Given the description of an element on the screen output the (x, y) to click on. 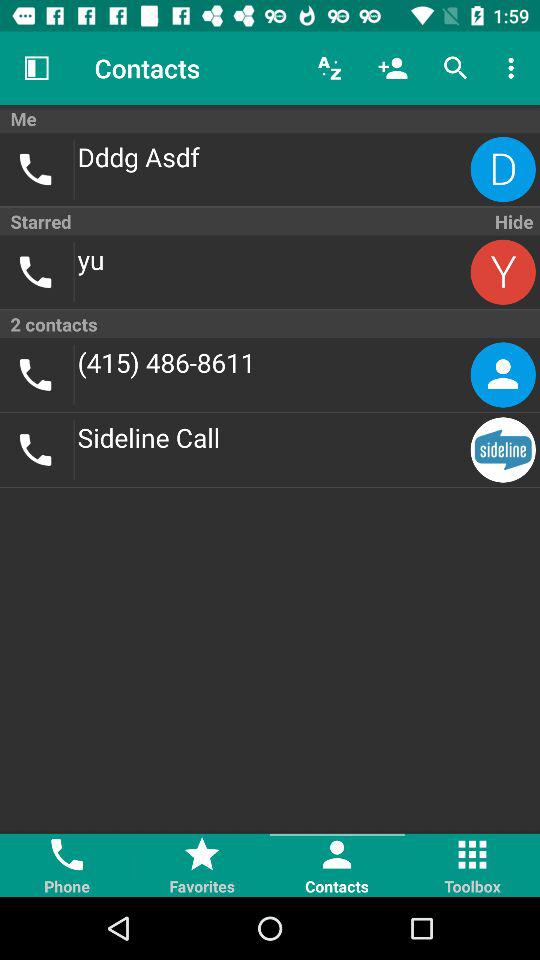
select item to the left of the contacts (36, 68)
